Given the description of an element on the screen output the (x, y) to click on. 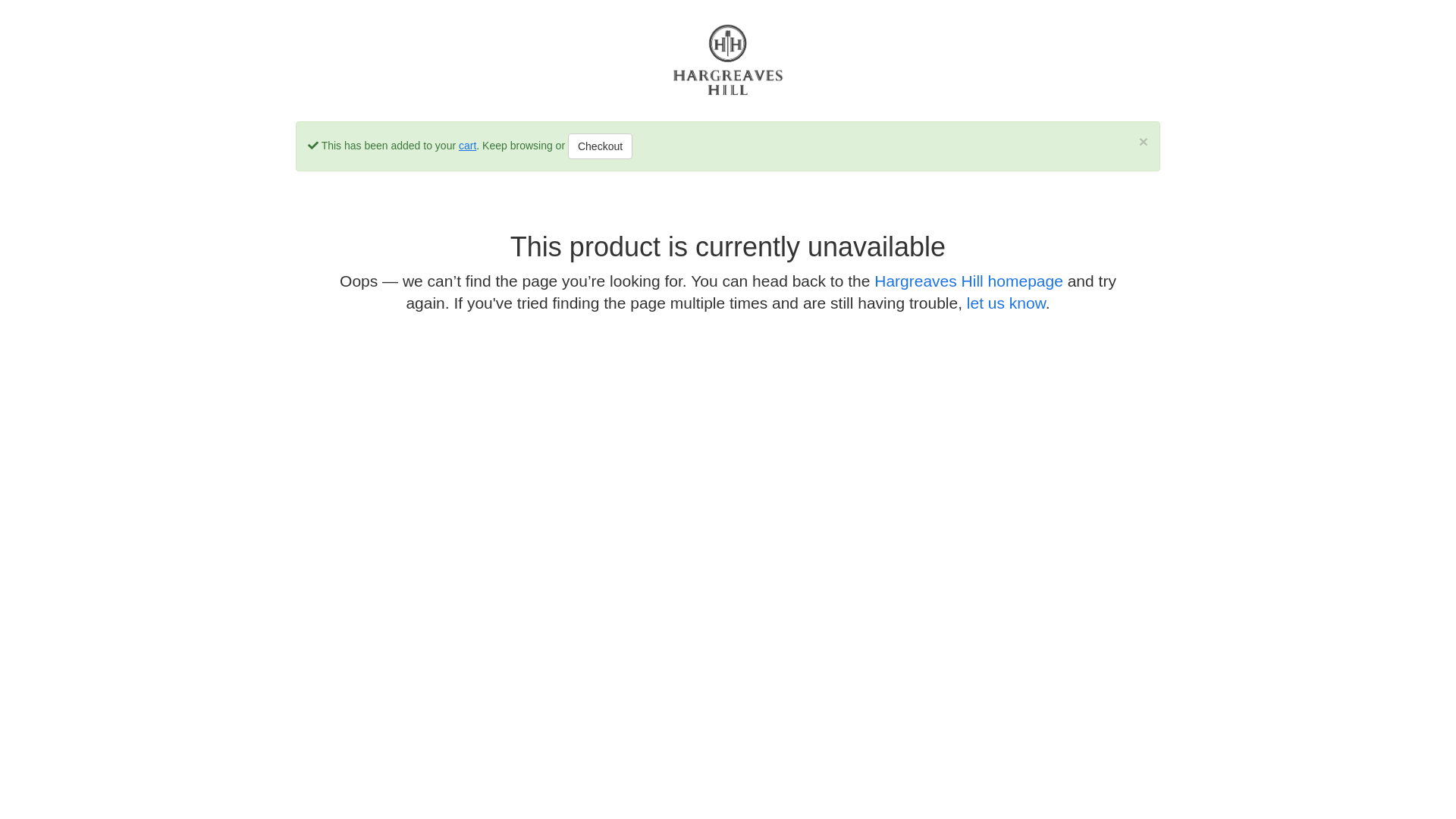
Hargreaves Hill homepage Element type: text (968, 280)
let us know Element type: text (1005, 302)
cart Element type: text (467, 145)
Checkout Element type: text (599, 146)
